Given the description of an element on the screen output the (x, y) to click on. 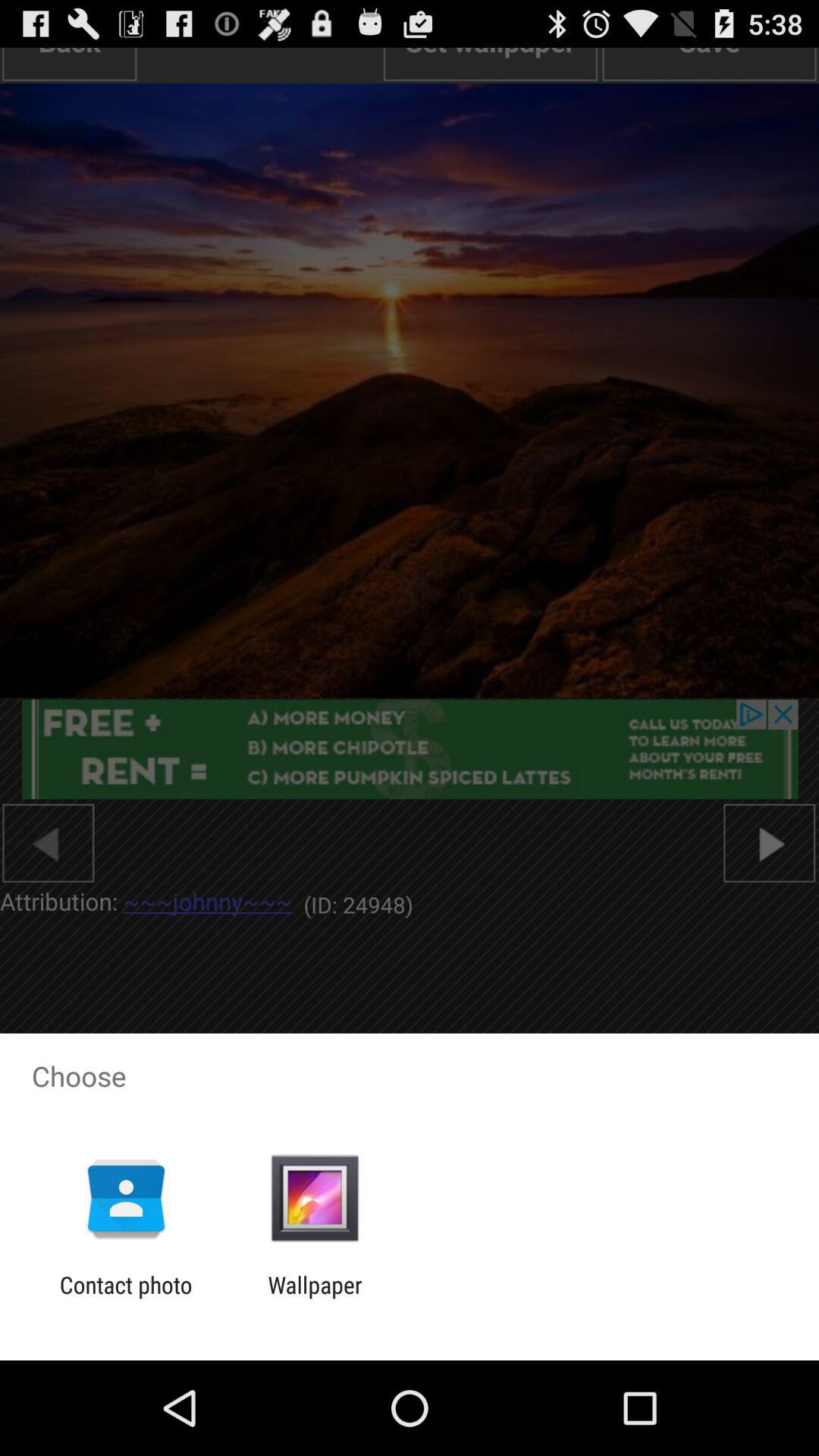
flip until wallpaper app (314, 1298)
